Given the description of an element on the screen output the (x, y) to click on. 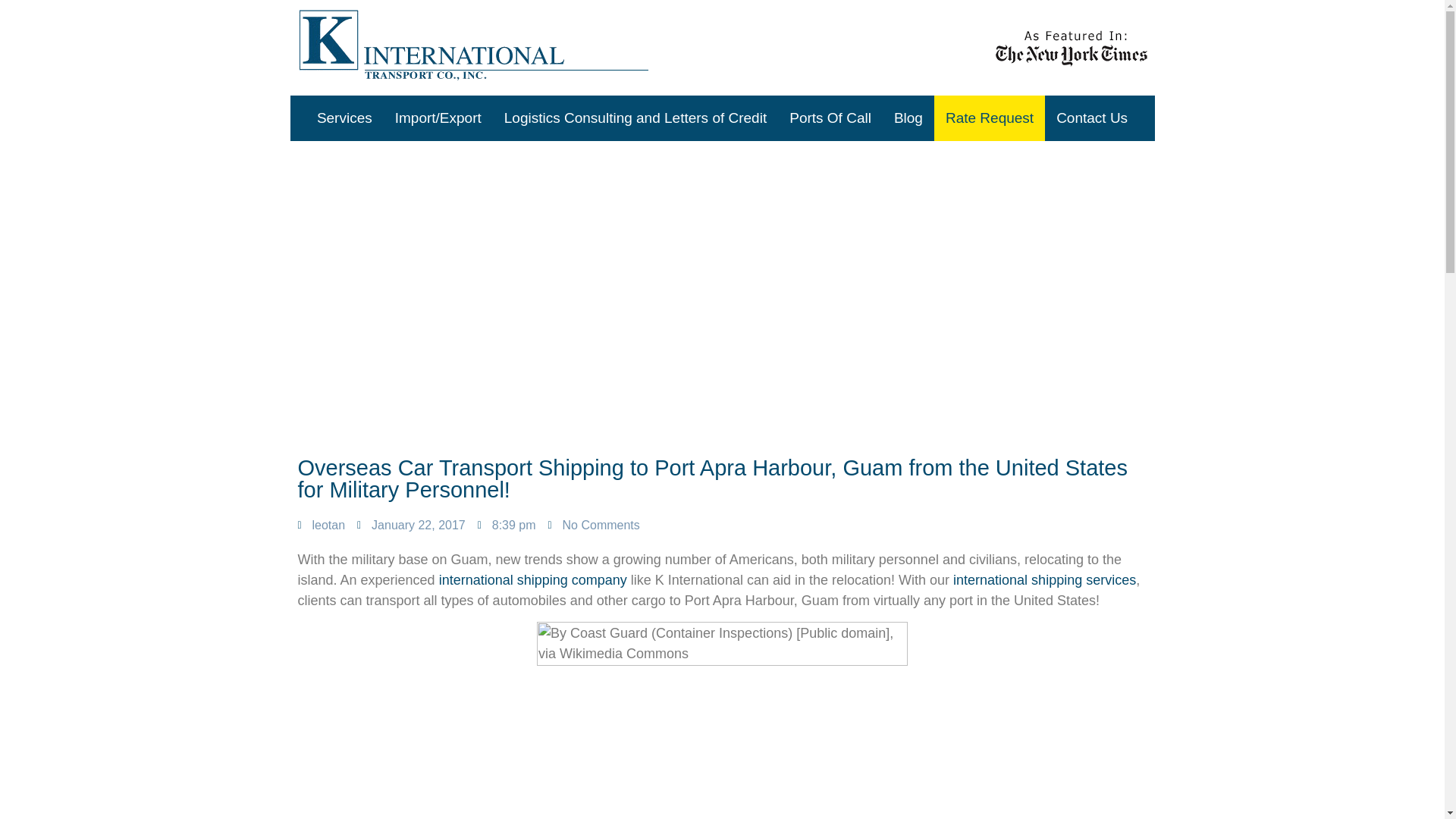
Services (344, 117)
January 22, 2017 (410, 525)
international shipping company (533, 580)
international shipping services (1044, 580)
Ports Of Call (829, 117)
Contact Us (1091, 117)
leotan (321, 525)
Logistics Consulting and Letters of Credit (635, 117)
Rate Request (989, 117)
No Comments (594, 525)
Blog (908, 117)
